Given the description of an element on the screen output the (x, y) to click on. 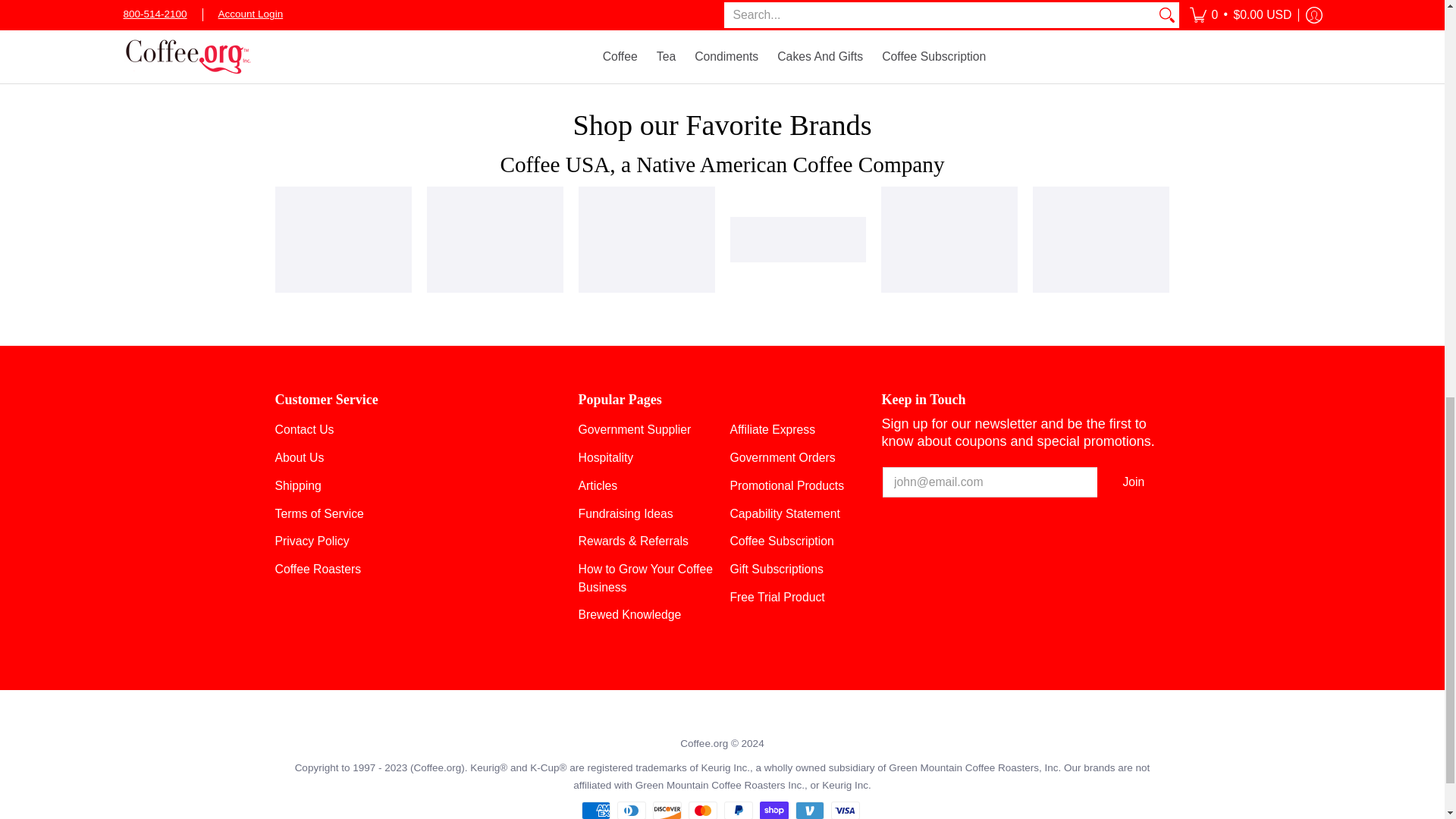
Venmo (809, 810)
Mastercard (702, 810)
Diners Club (631, 810)
Visa (845, 810)
Discover (666, 810)
Post comment (323, 2)
PayPal (737, 810)
Shop Pay (774, 810)
American Express (595, 810)
